Given the description of an element on the screen output the (x, y) to click on. 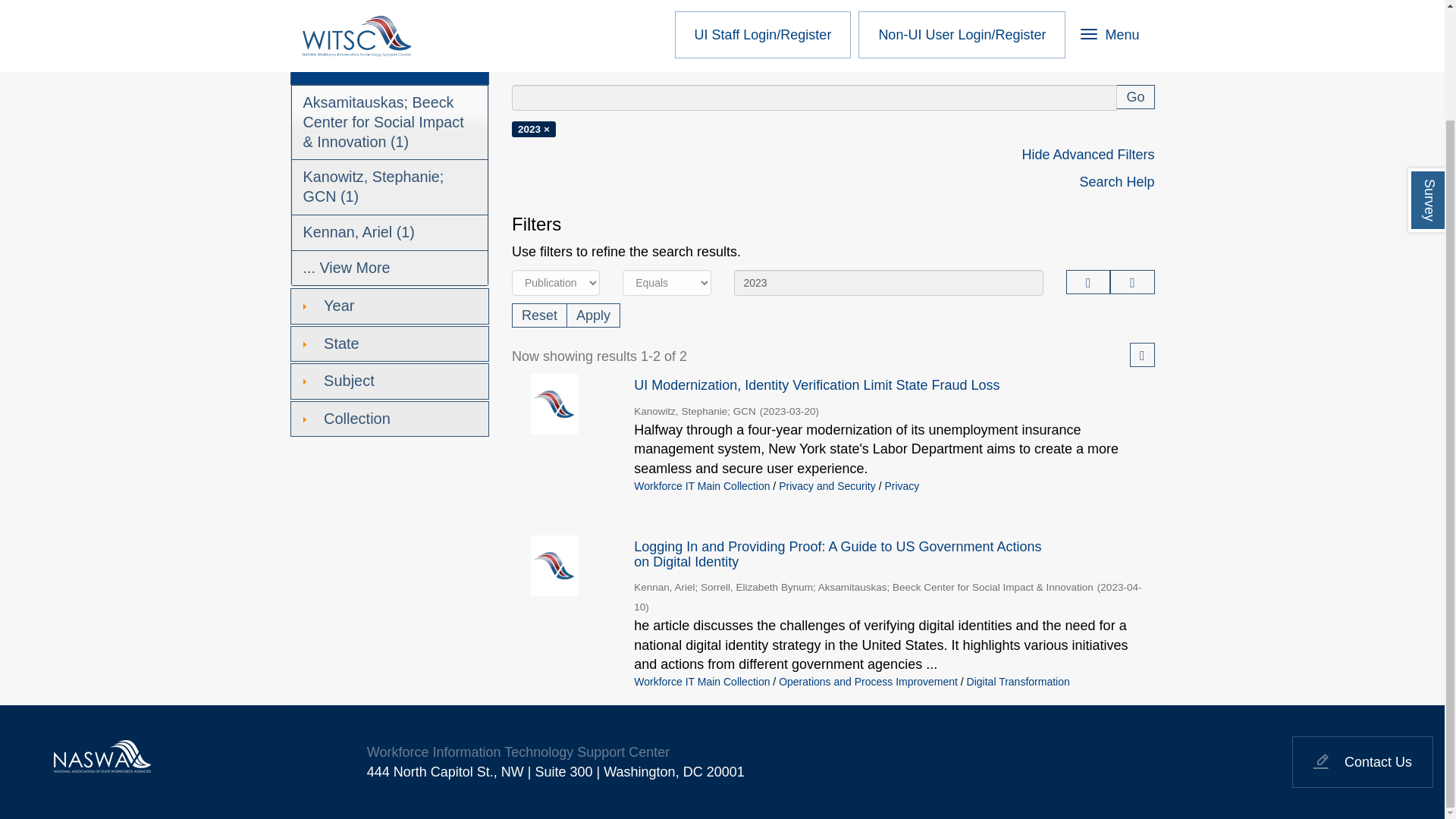
form (1135, 96)
filter-input (888, 281)
Workforce IT Main Collection (419, 4)
Privacy (700, 4)
Author (389, 67)
filter-operator (666, 281)
form (593, 314)
form (539, 314)
2023 (888, 281)
Privacy and Security (593, 4)
